Given the description of an element on the screen output the (x, y) to click on. 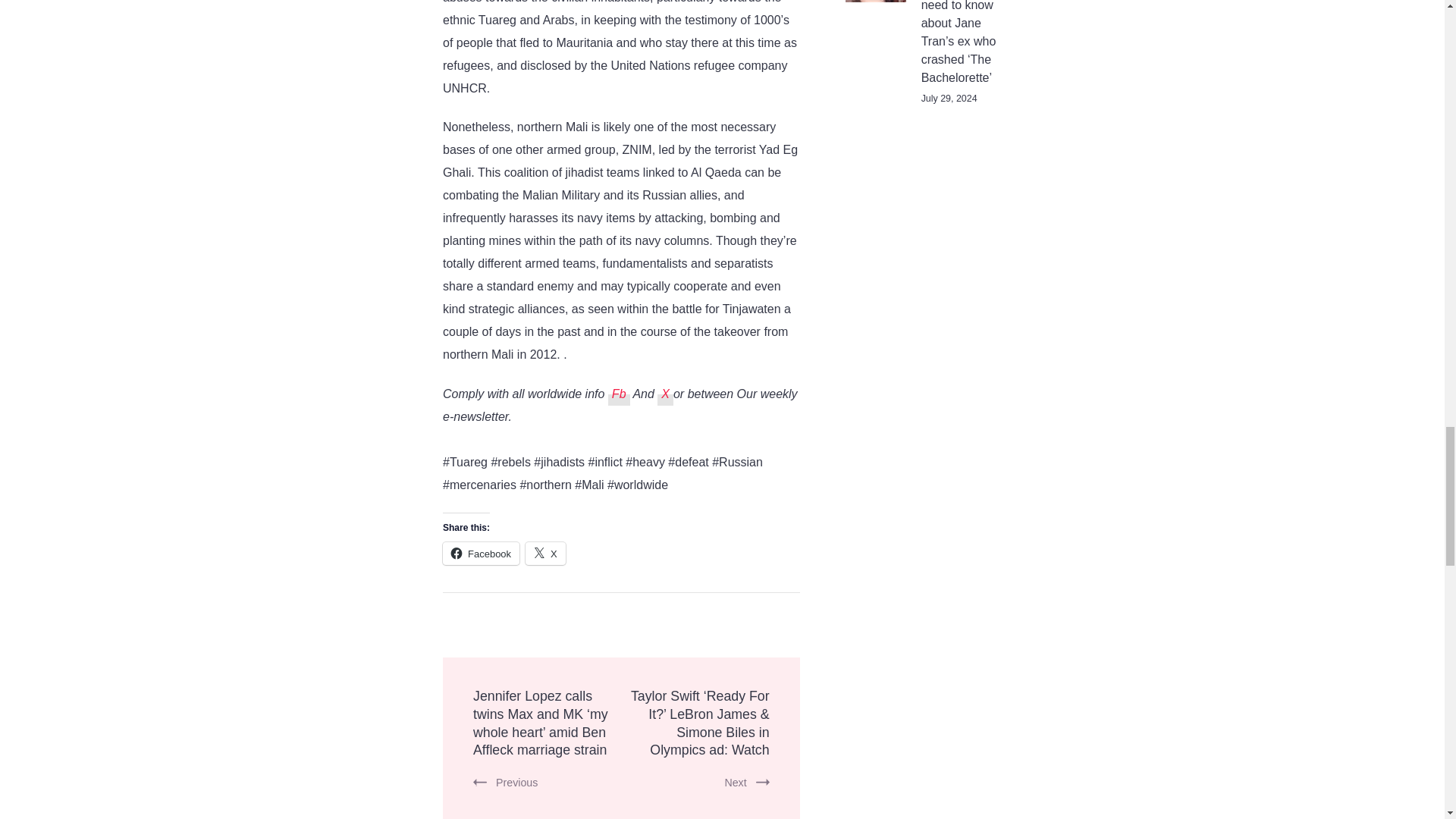
Click to share on Facebook (480, 553)
Click to share on X (545, 553)
